Given the description of an element on the screen output the (x, y) to click on. 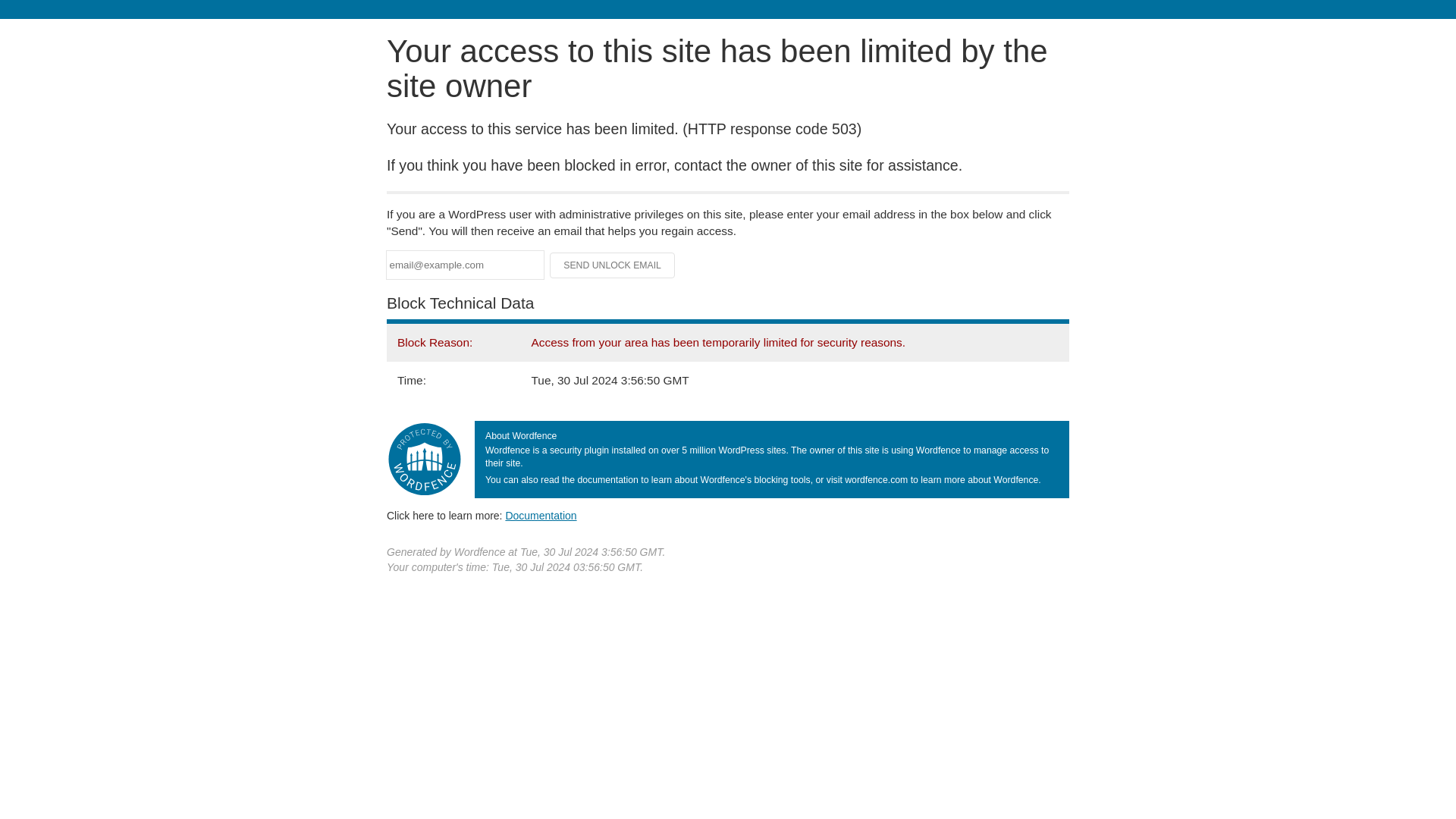
Send Unlock Email (612, 265)
Documentation (540, 515)
Send Unlock Email (612, 265)
